Given the description of an element on the screen output the (x, y) to click on. 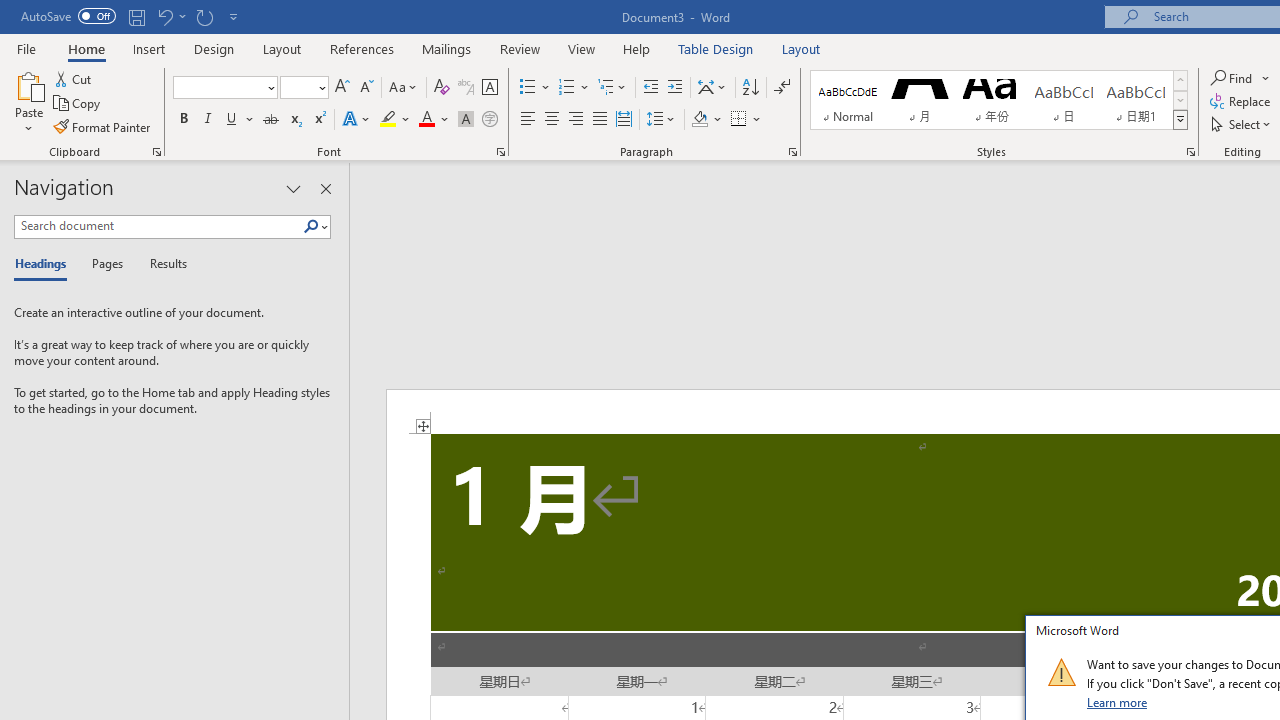
Styles... (1190, 151)
Text Highlight Color (395, 119)
Text Effects and Typography (357, 119)
Table Design (715, 48)
Font Color RGB(255, 0, 0) (426, 119)
Align Right (575, 119)
Review (520, 48)
Format Painter (103, 126)
Text Highlight Color Yellow (388, 119)
Results (161, 264)
View (582, 48)
